Given the description of an element on the screen output the (x, y) to click on. 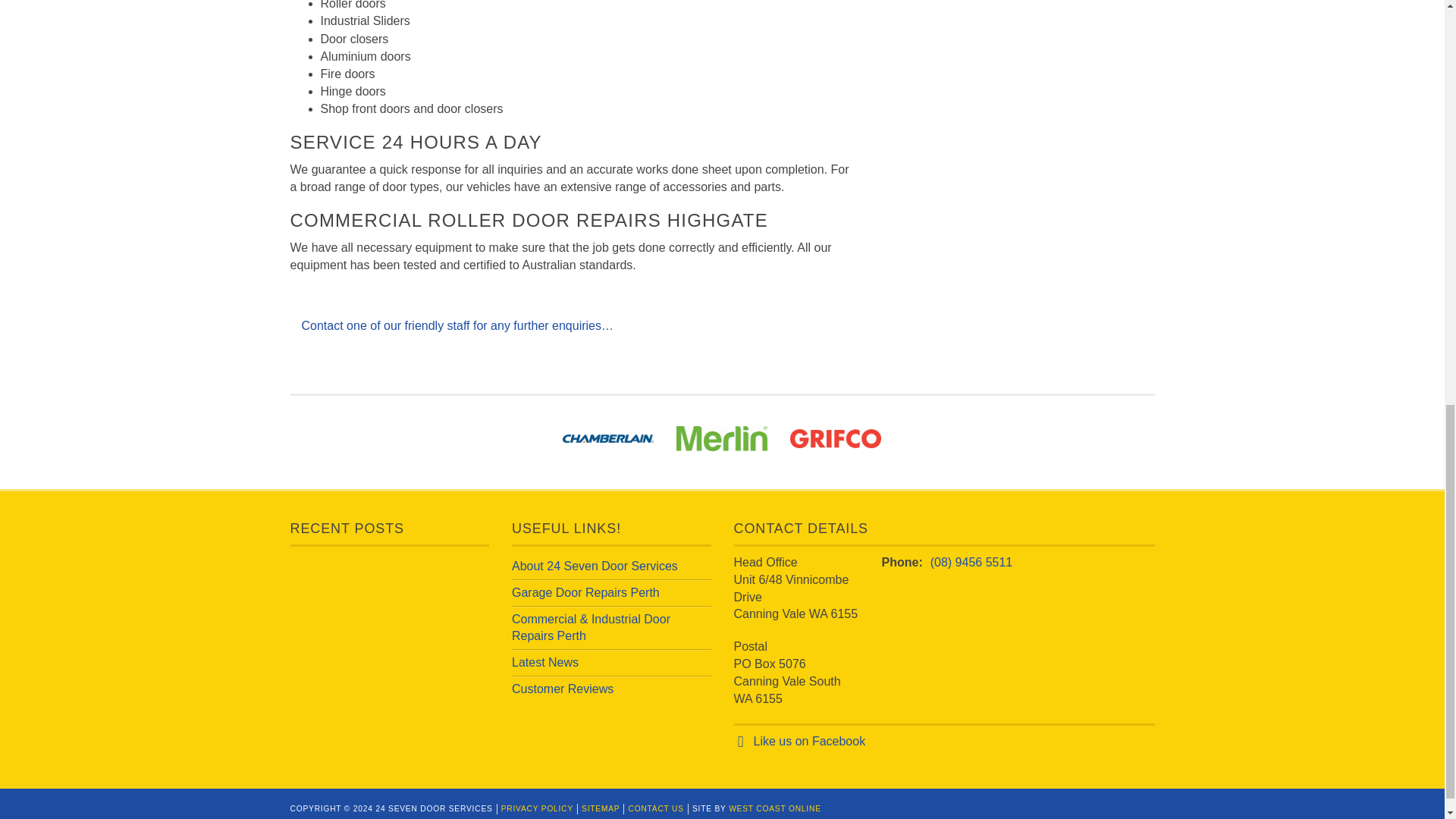
Garage Door Repairs Perth (585, 592)
PRIVACY POLICY (536, 808)
SITEMAP (600, 808)
Latest News (545, 662)
Customer Reviews (562, 688)
CONTACT US (654, 808)
WEST COAST ONLINE (775, 808)
About 24 Seven Door Services (595, 565)
Like us on Facebook (810, 740)
